Given the description of an element on the screen output the (x, y) to click on. 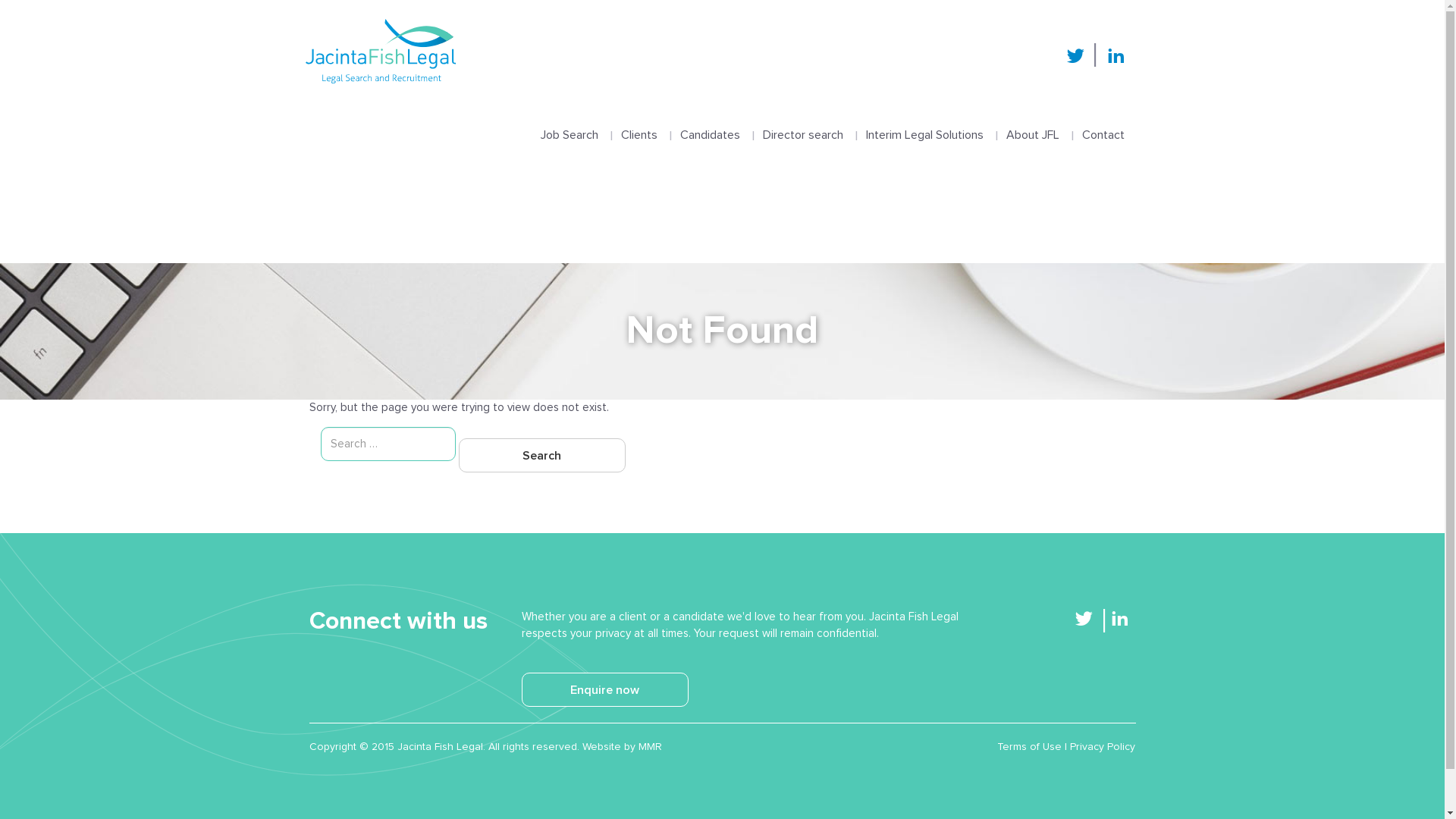
Candidates Element type: text (709, 120)
Privacy Policy Element type: text (1102, 746)
Terms of Use Element type: text (1029, 746)
Director search Element type: text (801, 120)
Search Element type: text (541, 455)
Jacinta Fish Legal home page Element type: hover (379, 51)
Enquire now Element type: text (604, 689)
Interim Legal Solutions Element type: text (923, 120)
Contact Element type: text (1102, 120)
Job Search Element type: text (569, 120)
MMR Element type: text (650, 746)
About JFL Element type: text (1032, 120)
Clients Element type: text (638, 120)
